Given the description of an element on the screen output the (x, y) to click on. 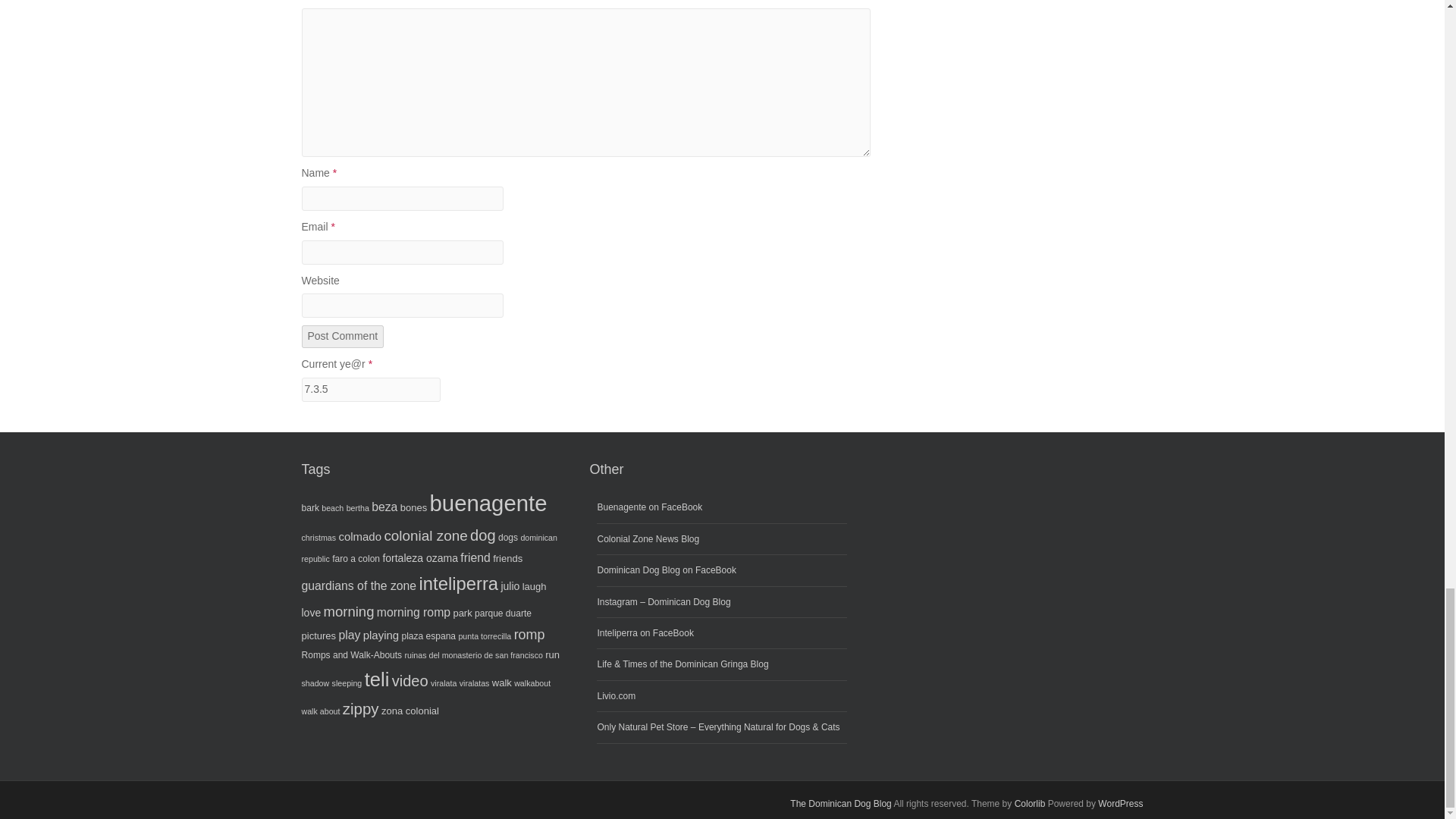
News and Events in Dominican Republic (647, 538)
christmas (318, 537)
bones (413, 507)
Life and Times of The Dominican Gringa (682, 664)
buenagente (488, 502)
All natural animal supplies (718, 726)
bertha (357, 507)
bark (309, 507)
beza (384, 506)
Buenagente on FaceBook (648, 507)
Post Comment (342, 336)
Post Comment (342, 336)
face book dominican dog blog (665, 570)
beach (332, 507)
7.3.5 (371, 389)
